Given the description of an element on the screen output the (x, y) to click on. 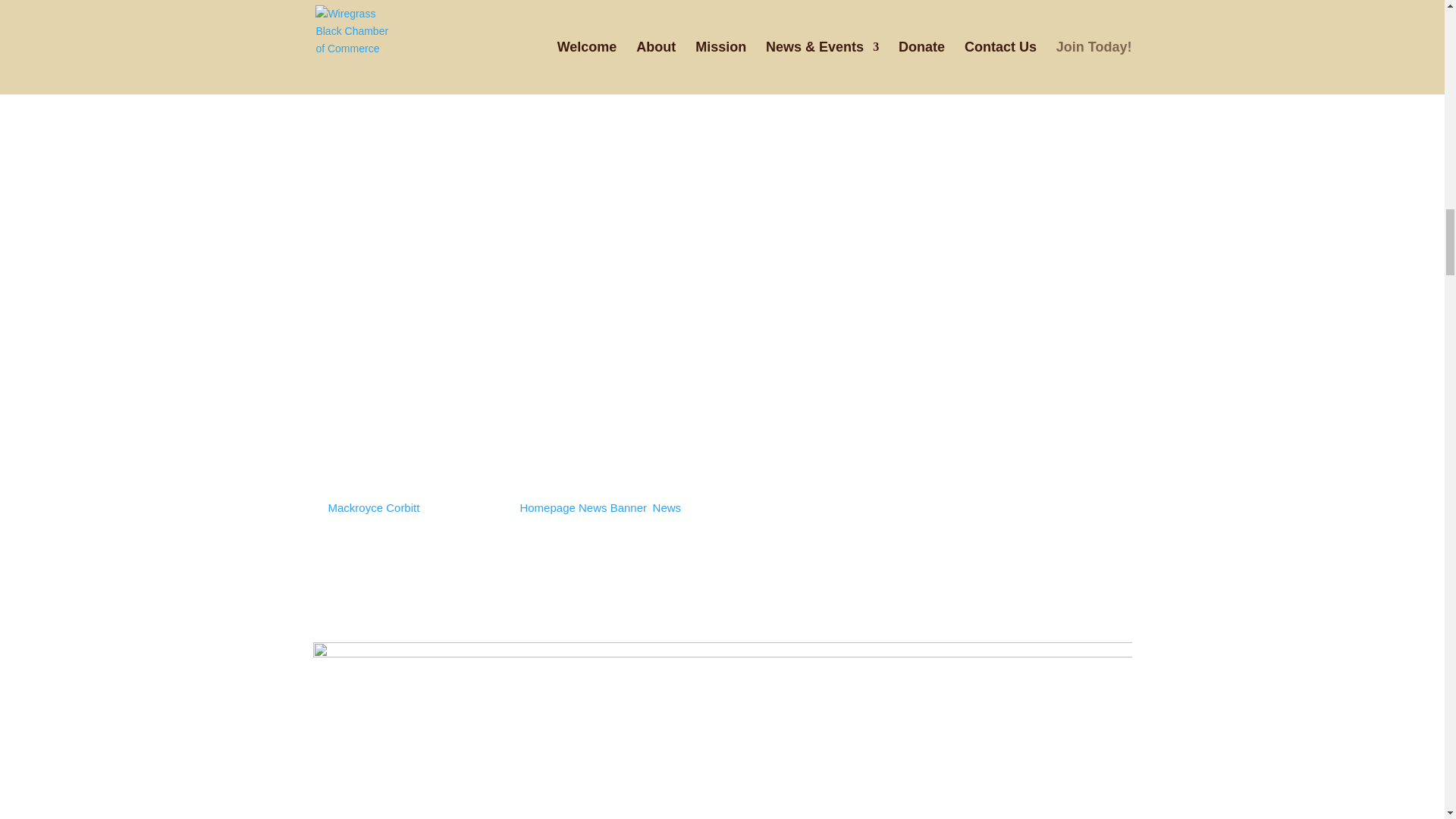
Mackroyce Corbitt (374, 507)
News (666, 507)
Posts by Mackroyce Corbitt (374, 507)
Homepage News Banner (582, 507)
Read More (366, 623)
2023 Business Expo (402, 481)
